Given the description of an element on the screen output the (x, y) to click on. 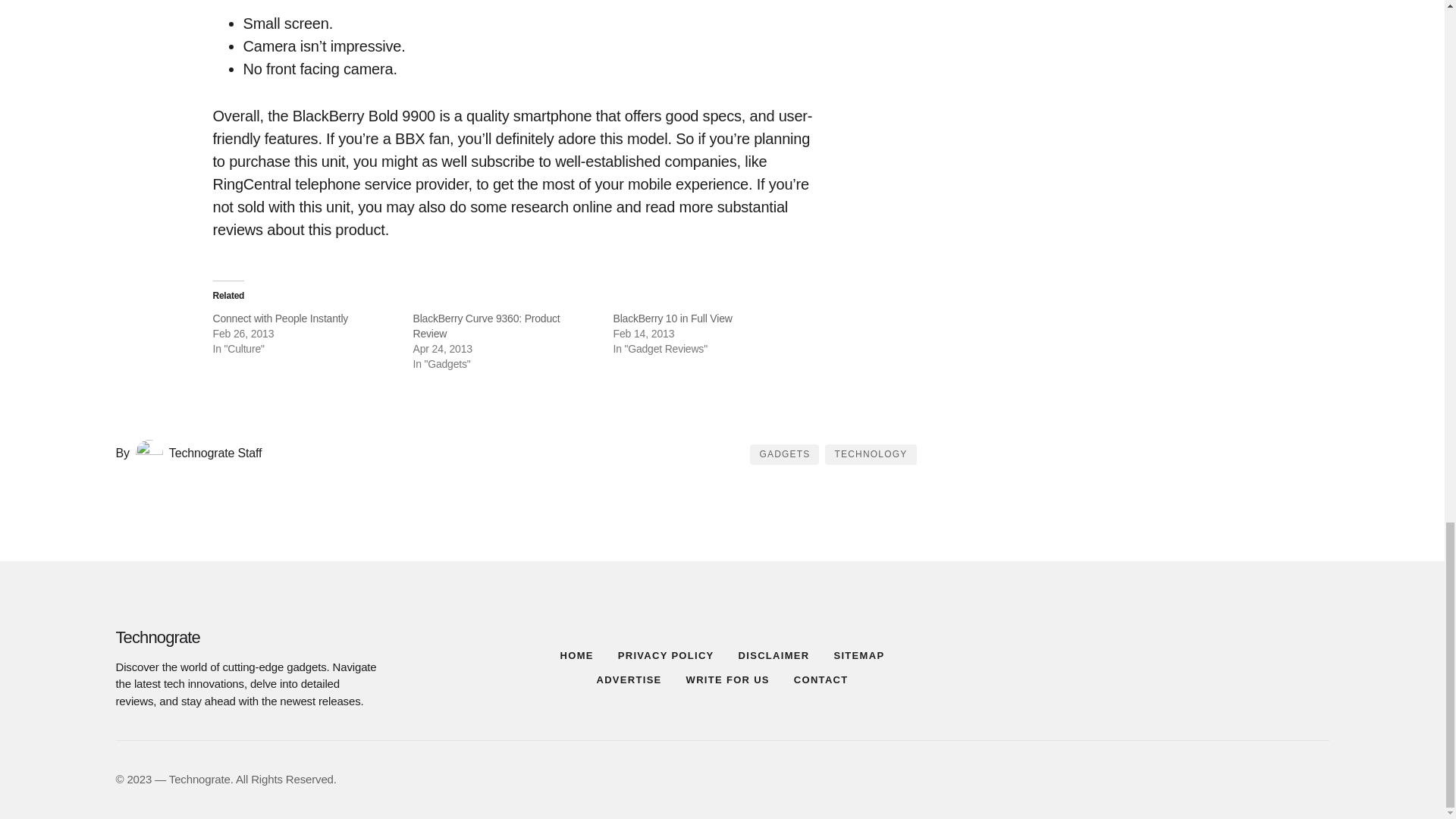
BlackBerry Curve 9360: Product Review (485, 325)
BlackBerry 10 in Full View (672, 318)
Connect with People Instantly (279, 318)
